Given the description of an element on the screen output the (x, y) to click on. 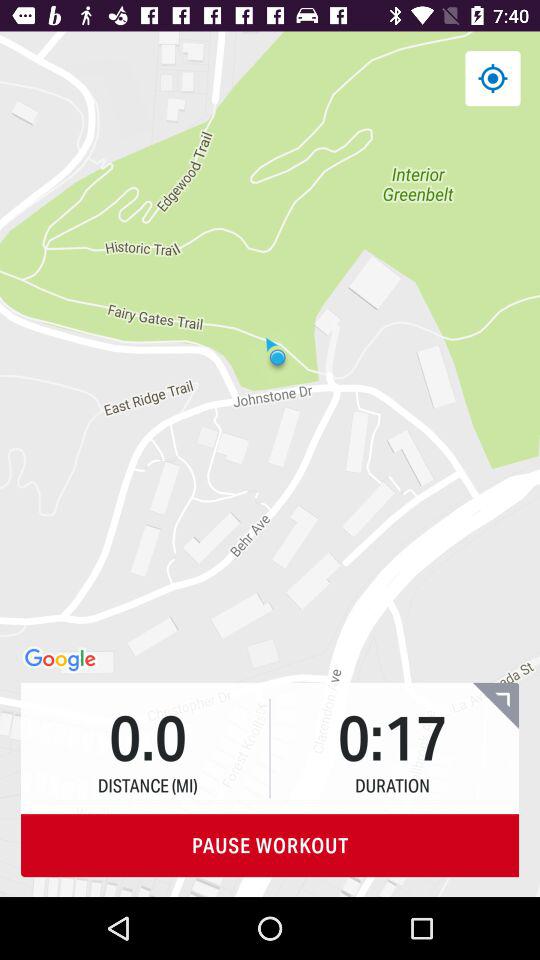
expand workout screen (495, 705)
